Given the description of an element on the screen output the (x, y) to click on. 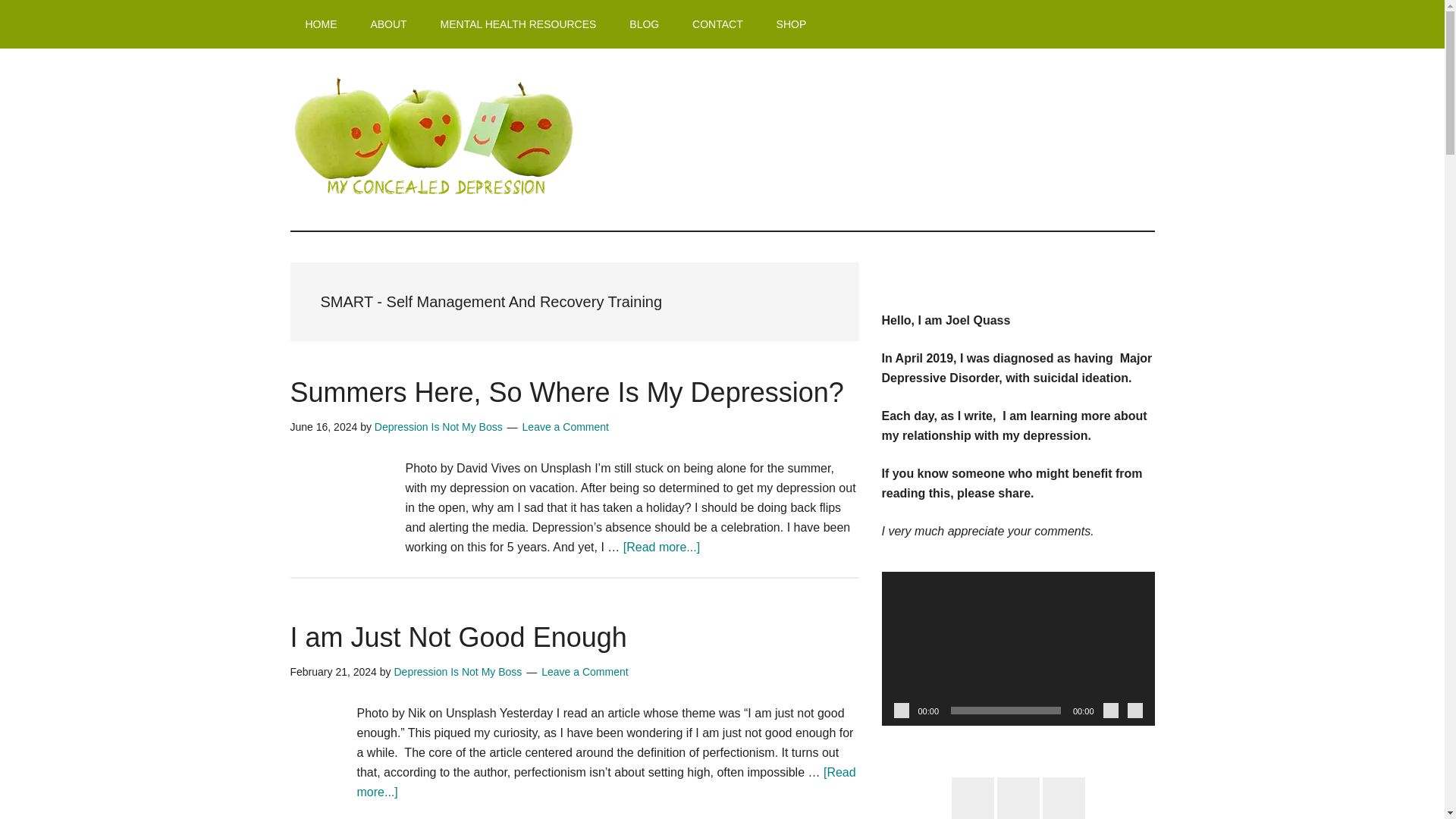
I am Just Not Good Enough (457, 636)
BLOG (644, 24)
Fullscreen (1133, 709)
Mute (1110, 709)
Leave a Comment (565, 426)
CONTACT (717, 24)
Depression Is Not My Boss (438, 426)
Play (900, 709)
SHOP (791, 24)
